Given the description of an element on the screen output the (x, y) to click on. 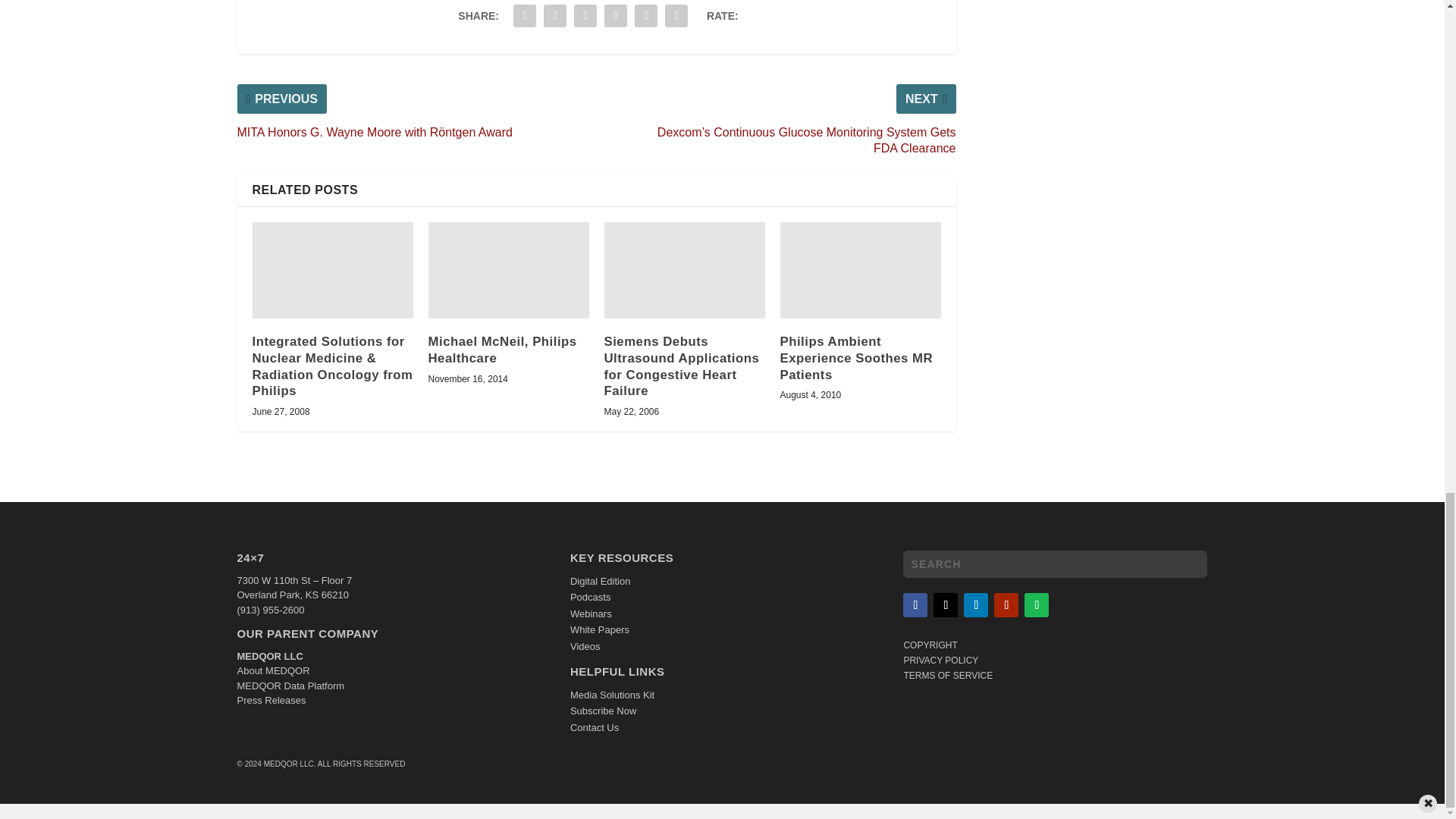
Michael McNeil, Philips Healthcare (508, 269)
Follow on Spotify (1036, 604)
Follow on Youtube (1005, 604)
Follow on Facebook (914, 604)
Follow on LinkedIn (975, 604)
Philips Ambient Experience Soothes MR Patients (859, 269)
Follow on X (945, 604)
